Given the description of an element on the screen output the (x, y) to click on. 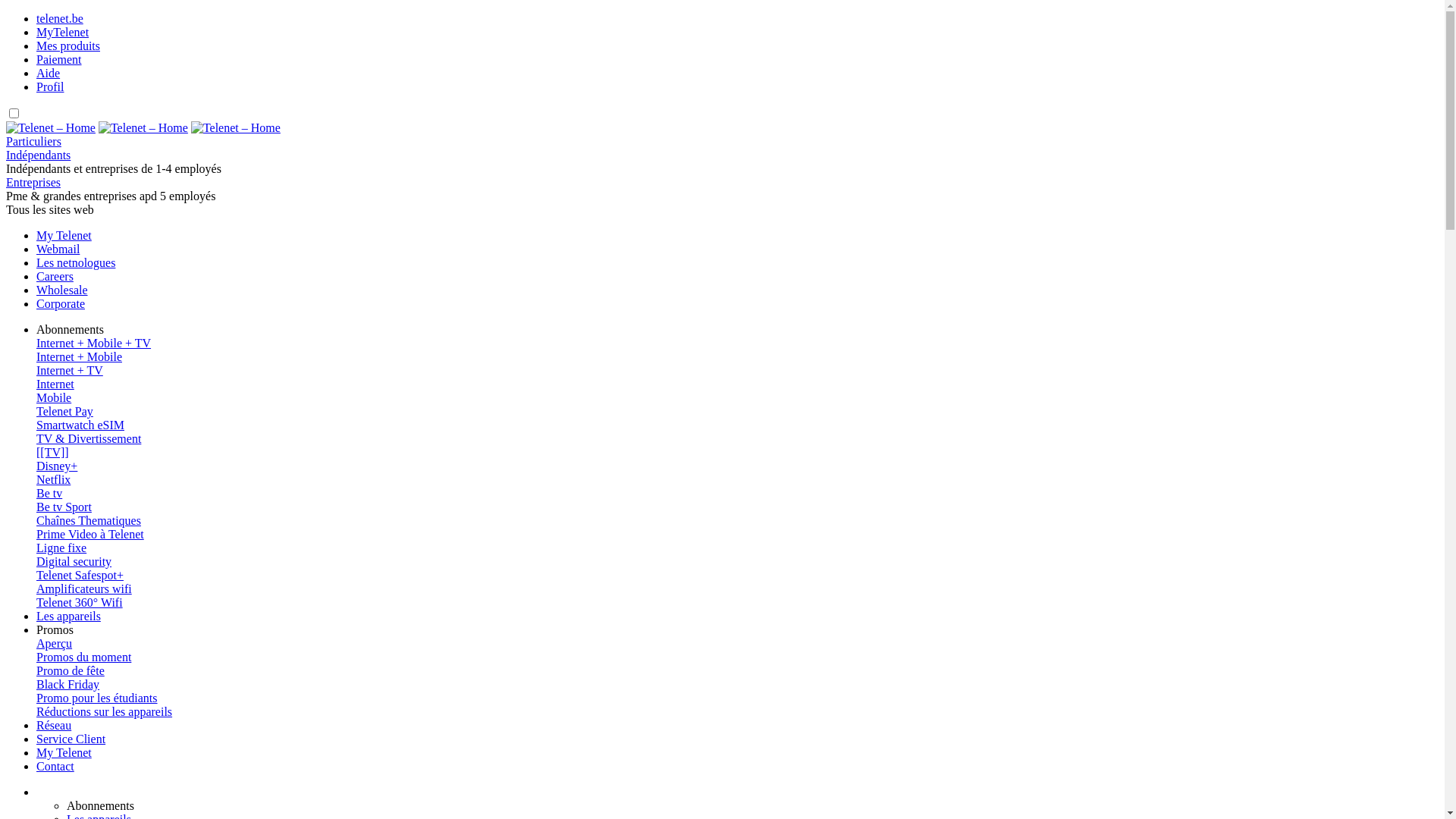
Telenet Pay Element type: text (64, 410)
Mobile Element type: text (737, 397)
Telenet Safespot+ Element type: text (79, 574)
My Telenet Element type: text (63, 752)
Contact Element type: text (55, 765)
Netflix Element type: text (53, 479)
Internet Element type: text (737, 384)
Webmail Element type: text (57, 248)
Ligne fixe Element type: text (737, 548)
[[TV]] Element type: text (52, 451)
Service Client Element type: text (70, 738)
TV & Divertissement Element type: text (737, 438)
Amplificateurs wifi Element type: text (737, 589)
MyTelenet Element type: text (62, 31)
Les appareils Element type: text (68, 615)
Les netnologues Element type: text (75, 262)
Smartwatch eSIM Element type: text (80, 424)
telenet.be Element type: text (737, 18)
Promos du moment Element type: text (83, 656)
Wholesale Element type: text (61, 289)
Be tv Element type: text (49, 492)
Paiement Element type: text (58, 59)
Promos Element type: text (54, 629)
Particuliers Element type: text (33, 140)
Black Friday Element type: text (67, 683)
Profil Element type: text (49, 86)
Digital security Element type: text (737, 561)
Internet + Mobile + TV Element type: text (737, 343)
Entreprises Element type: text (33, 181)
My Telenet Element type: text (63, 235)
Aide Element type: text (47, 72)
Abonnements Element type: text (100, 805)
Disney+ Element type: text (56, 465)
Internet + TV Element type: text (737, 370)
Careers Element type: text (54, 275)
Be tv Sport Element type: text (63, 506)
Corporate Element type: text (60, 303)
Mes produits Element type: text (68, 45)
Internet + Mobile Element type: text (737, 357)
Abonnements Element type: text (69, 329)
